Given the description of an element on the screen output the (x, y) to click on. 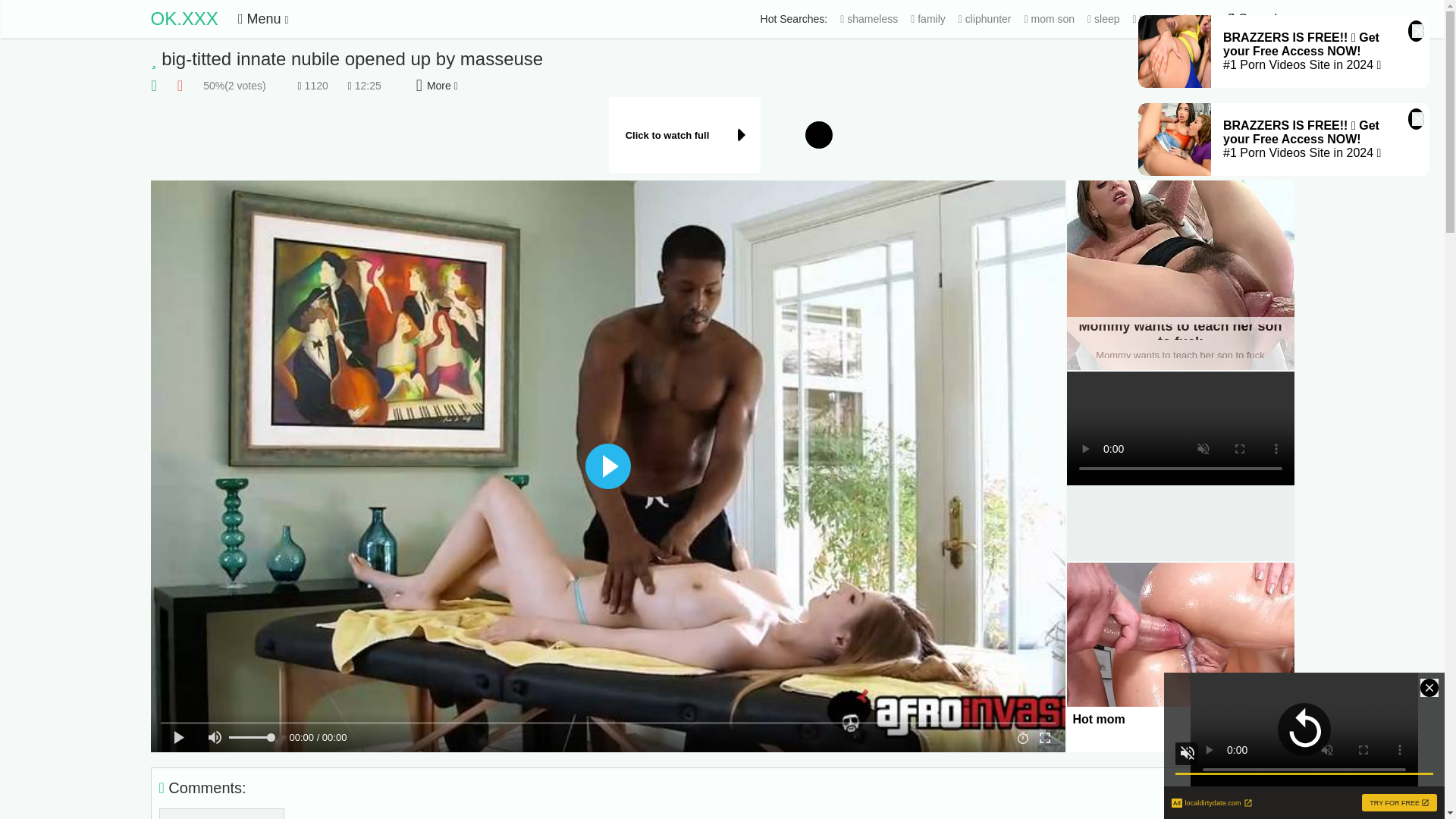
mom son (1049, 19)
sleep (1102, 19)
Click to watch full (721, 134)
Hot mom (1179, 657)
shameless (869, 19)
transgender (1164, 19)
1 votes! (152, 85)
1 votes! (179, 85)
OK.XXX (182, 18)
Show More (436, 85)
family (928, 19)
cliphunter (984, 19)
